Given the description of an element on the screen output the (x, y) to click on. 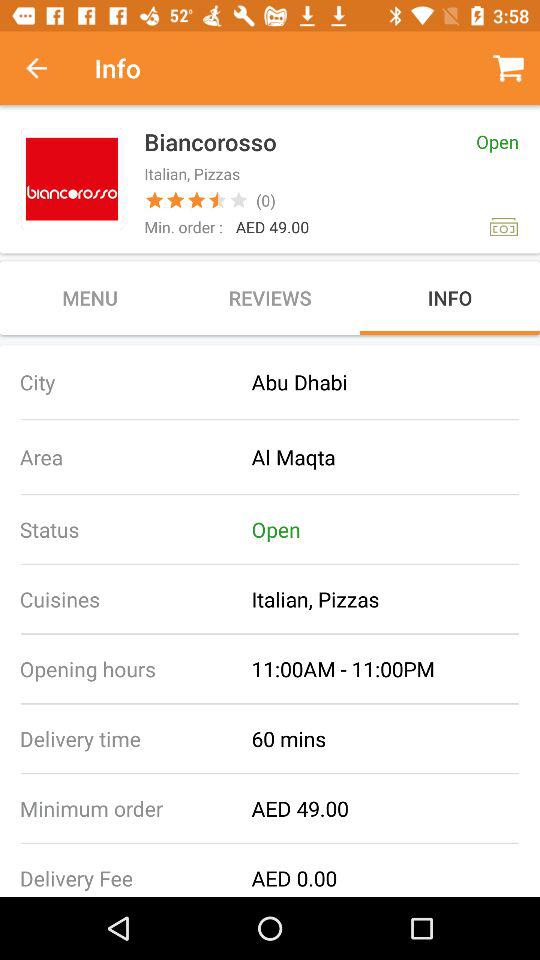
open icon to the left of info (47, 68)
